Given the description of an element on the screen output the (x, y) to click on. 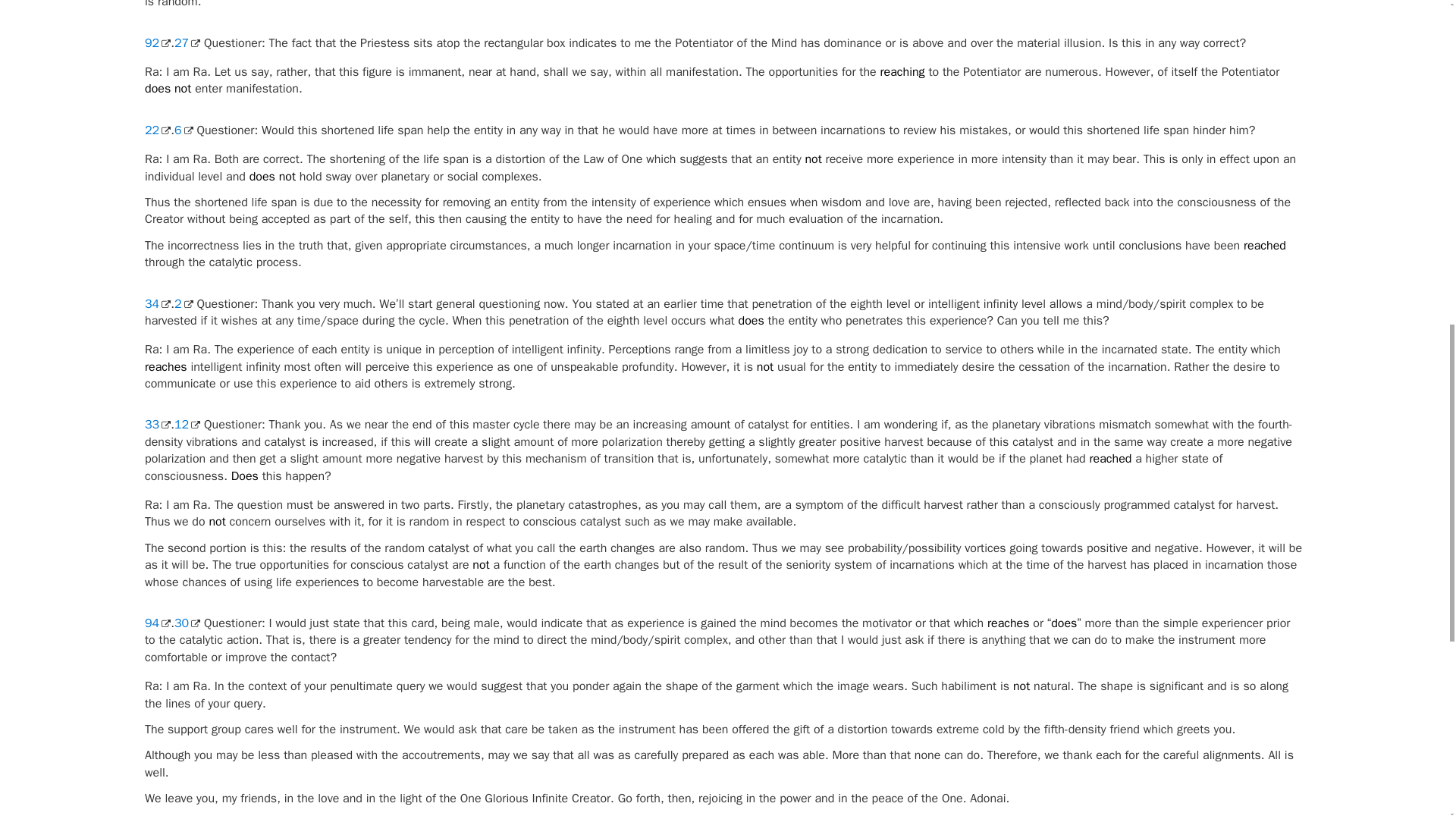
2 (183, 303)
33 (157, 424)
34 (157, 303)
92 (157, 43)
22 (157, 130)
6 (183, 130)
94 (157, 622)
12 (187, 424)
30 (187, 622)
27 (187, 43)
